Given the description of an element on the screen output the (x, y) to click on. 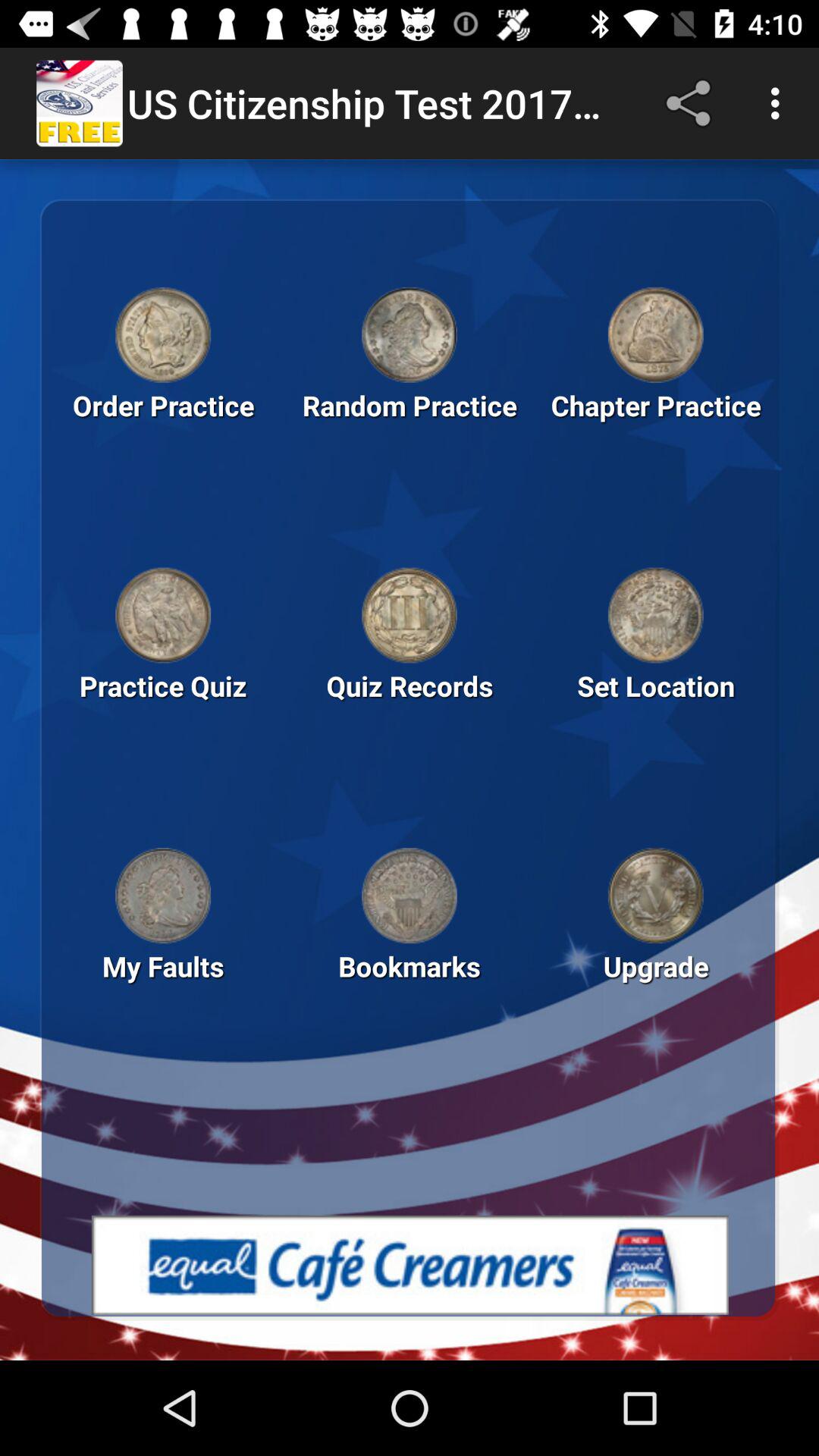
click the bottom left button (163, 895)
